Given the description of an element on the screen output the (x, y) to click on. 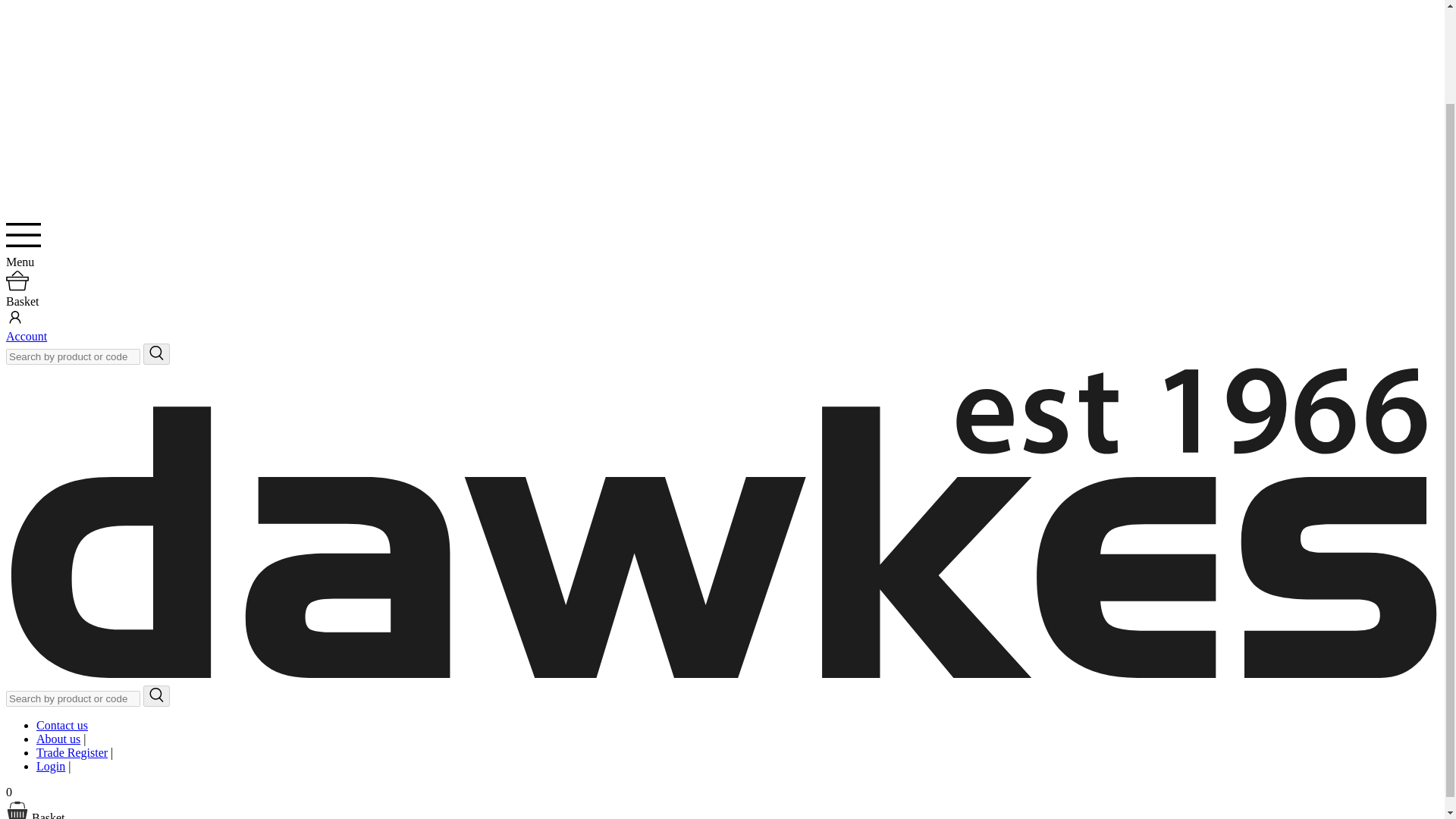
Account (25, 336)
Trade Register (71, 752)
Login (50, 766)
Contact us (61, 725)
About us (58, 738)
